Given the description of an element on the screen output the (x, y) to click on. 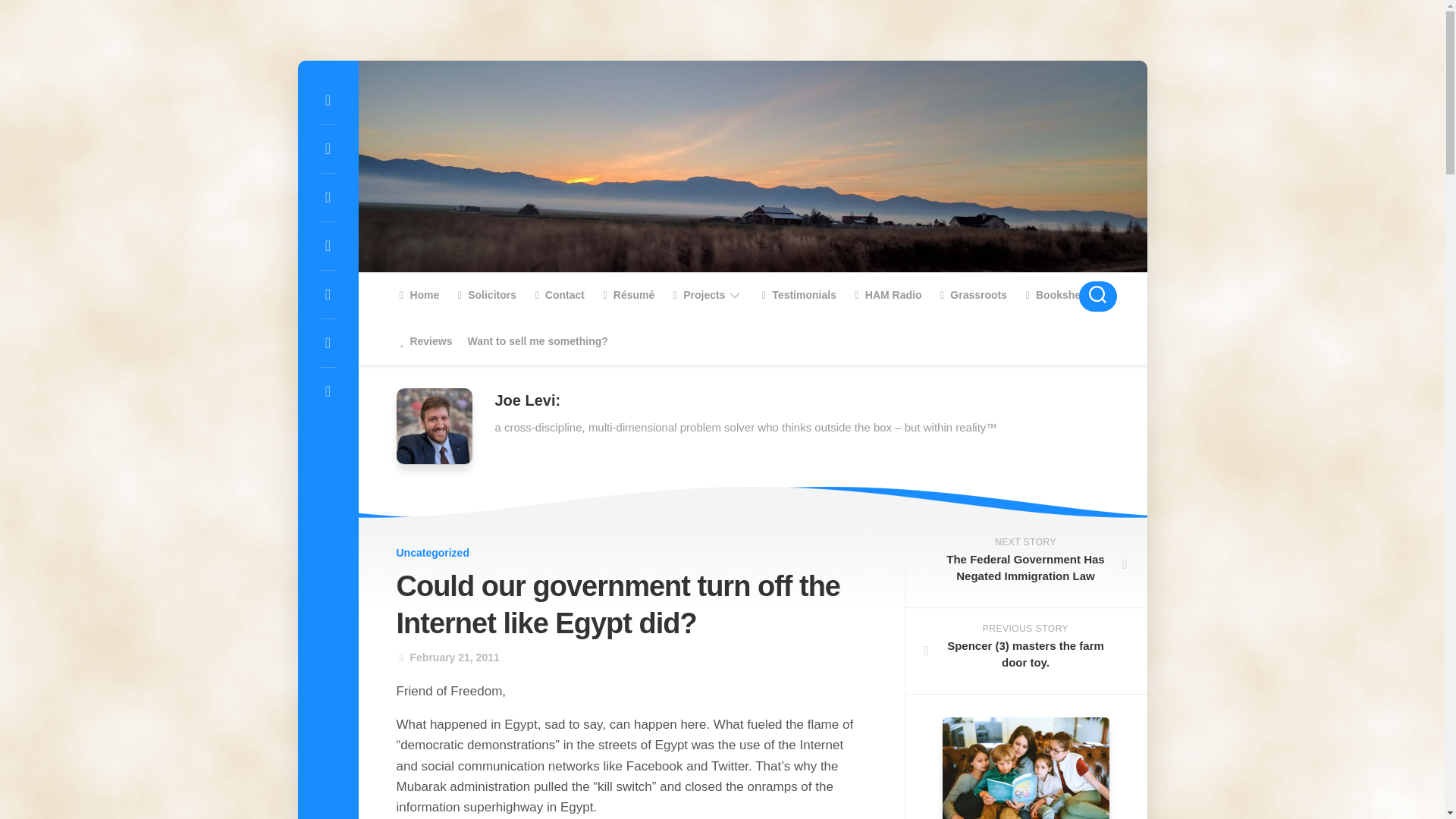
Home (417, 294)
Home (417, 294)
JoeLevi.com (401, 295)
Contact (558, 294)
Solicitors (485, 294)
Contact Joe (536, 295)
Bookshelf (1054, 294)
Contact Joe (558, 294)
Grassroots (971, 294)
HAM Radio (886, 294)
Want to sell me something? (537, 340)
Projects (697, 294)
Reviews (423, 340)
Testimonials (796, 294)
